Given the description of an element on the screen output the (x, y) to click on. 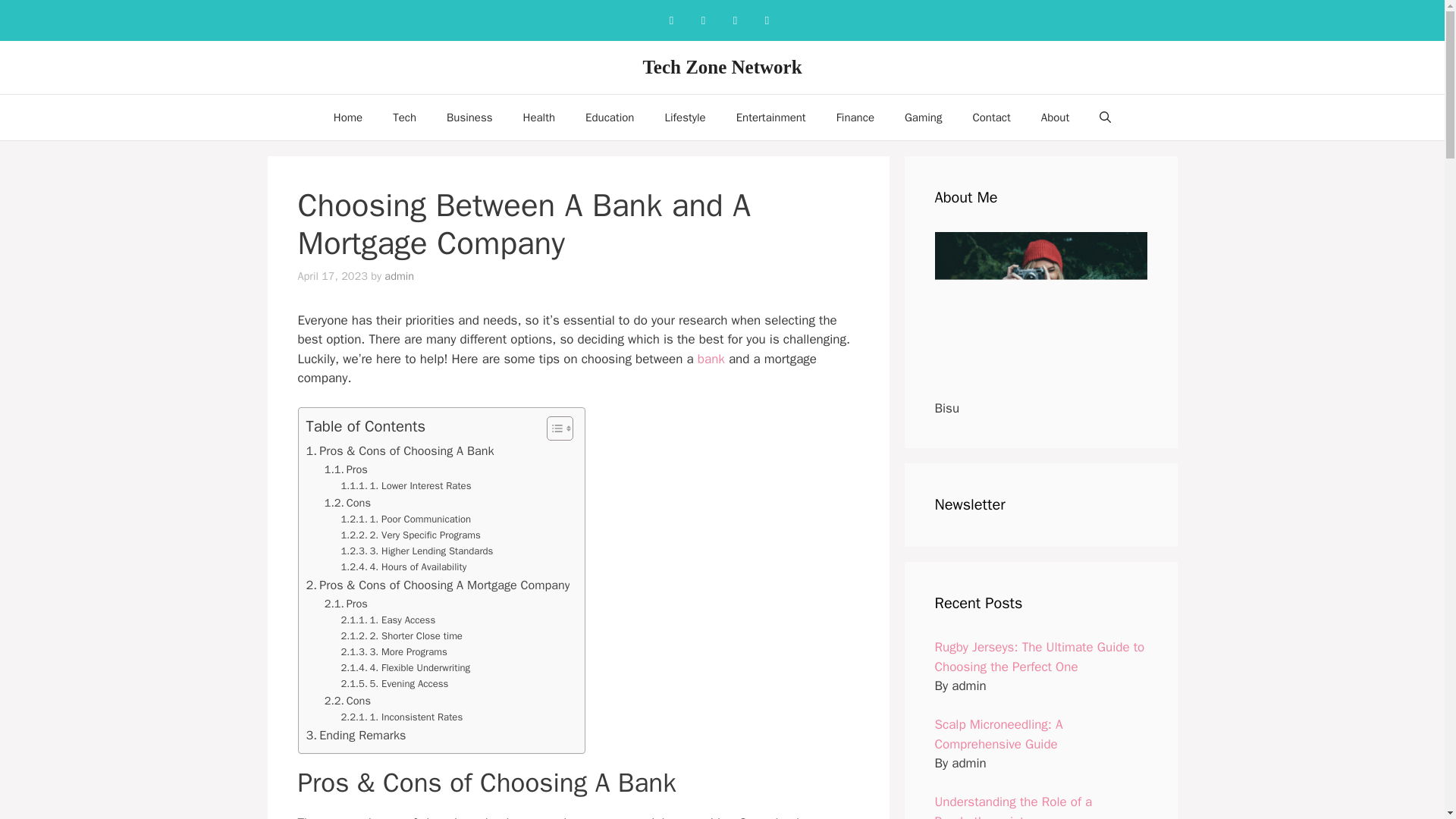
1. Inconsistent Rates (401, 717)
admin (398, 275)
1. Easy Access  (389, 620)
Cons (347, 502)
Cons (347, 701)
1. Lower Interest Rates (405, 486)
Tech Zone Network (722, 66)
About (1055, 117)
Instagram (703, 20)
Health (539, 117)
